Given the description of an element on the screen output the (x, y) to click on. 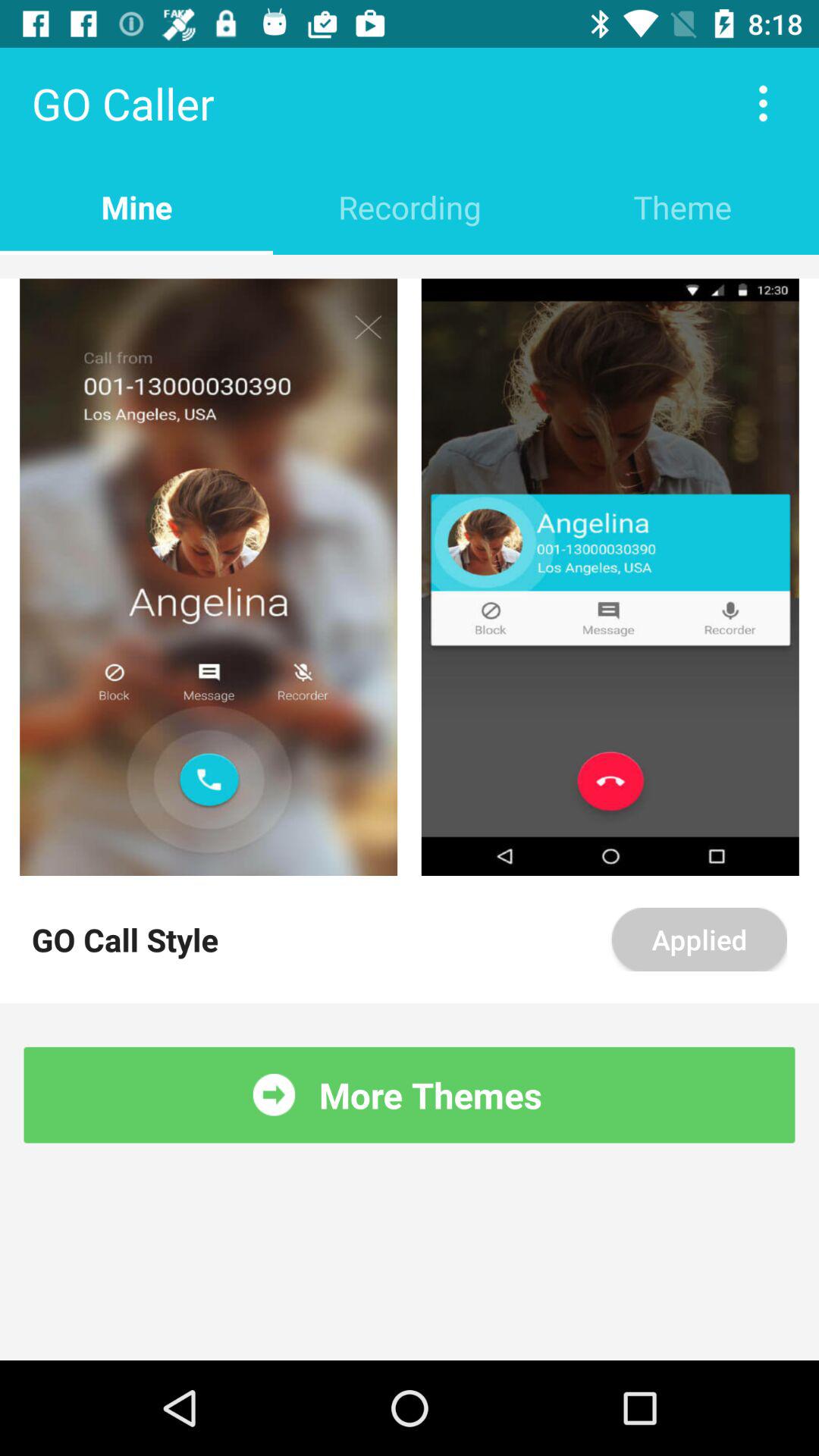
an option setting (763, 103)
